Given the description of an element on the screen output the (x, y) to click on. 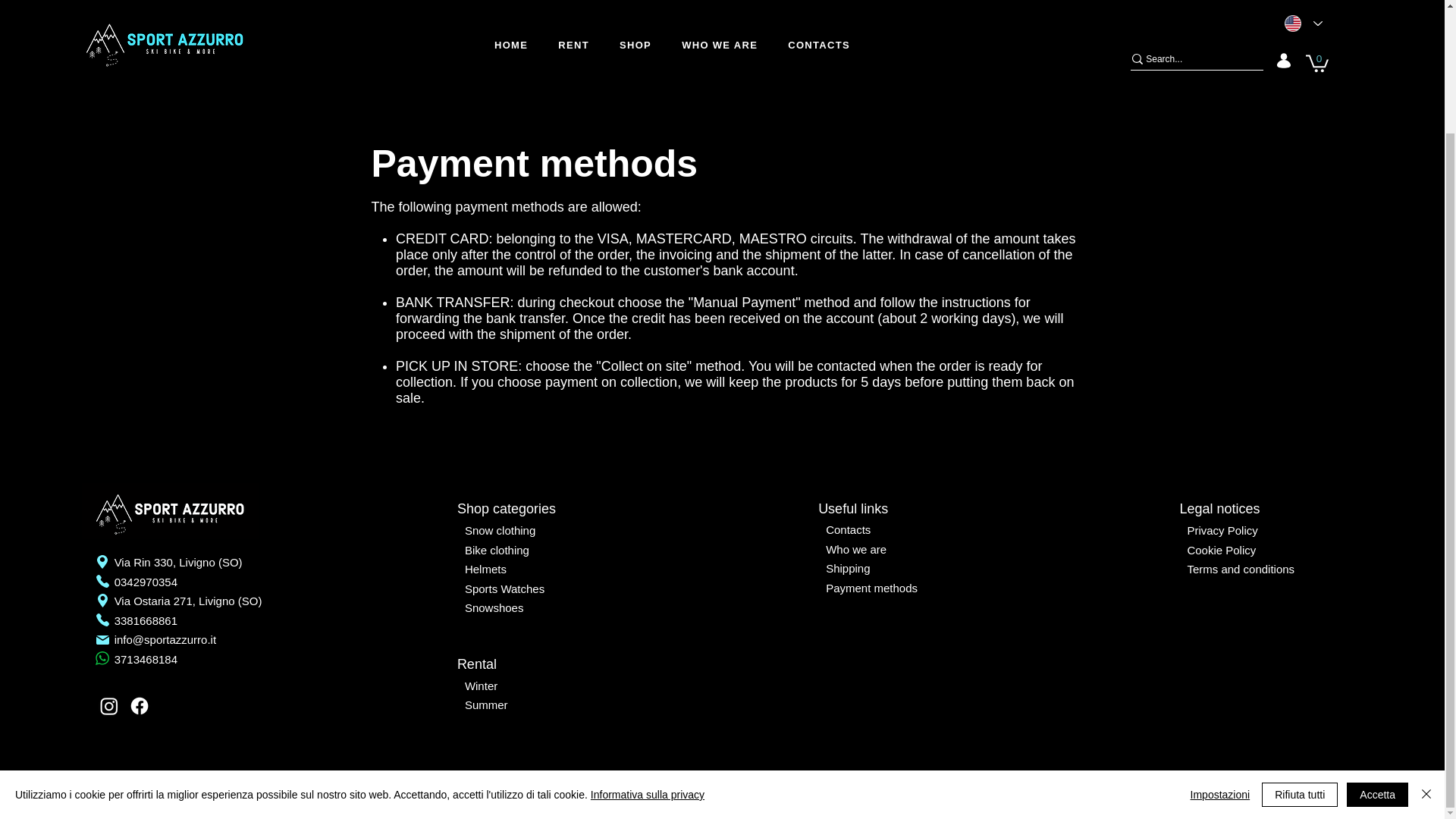
Studio WebAlive (762, 803)
Shipping (847, 567)
Accetta (1376, 645)
Who we are (855, 549)
3381668861 (146, 620)
Snow clothing (499, 530)
Snowshoes (494, 607)
Informativa sulla privacy (647, 645)
Bike clothing (496, 549)
Payment methods (871, 587)
